Given the description of an element on the screen output the (x, y) to click on. 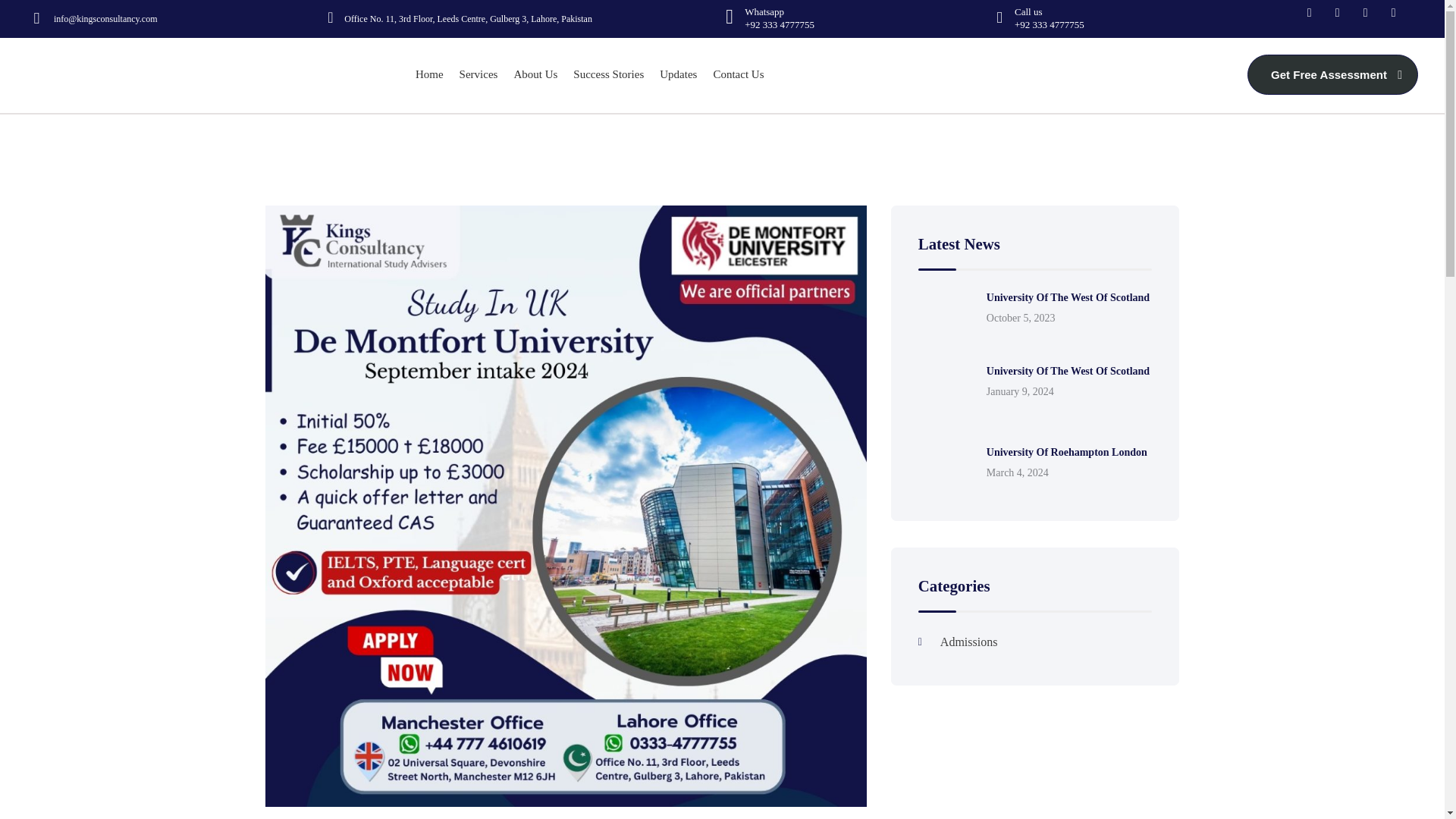
Updates (673, 73)
Success Stories (603, 73)
Updates (673, 73)
Contact Us (733, 73)
Home (424, 73)
Success Stories (603, 73)
Contact Us (733, 73)
Services (474, 73)
Get Free Assessment (1332, 74)
About Us (530, 73)
